Given the description of an element on the screen output the (x, y) to click on. 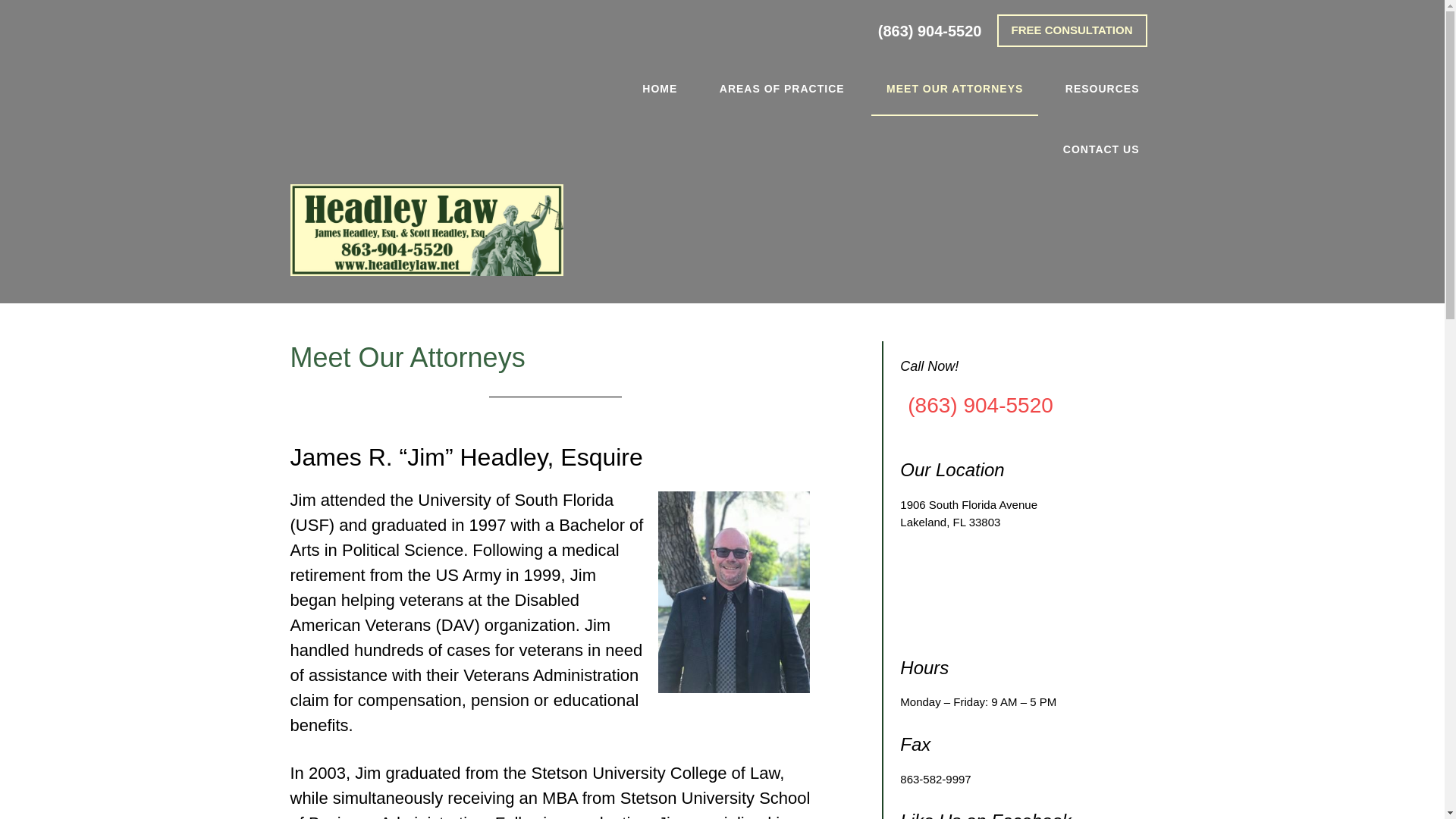
MEET OUR ATTORNEYS (954, 89)
RESOURCES (1101, 88)
HOME (660, 88)
AREAS OF PRACTICE (782, 88)
CONTACT US (1101, 149)
FREE CONSULTATION (1071, 30)
